Given the description of an element on the screen output the (x, y) to click on. 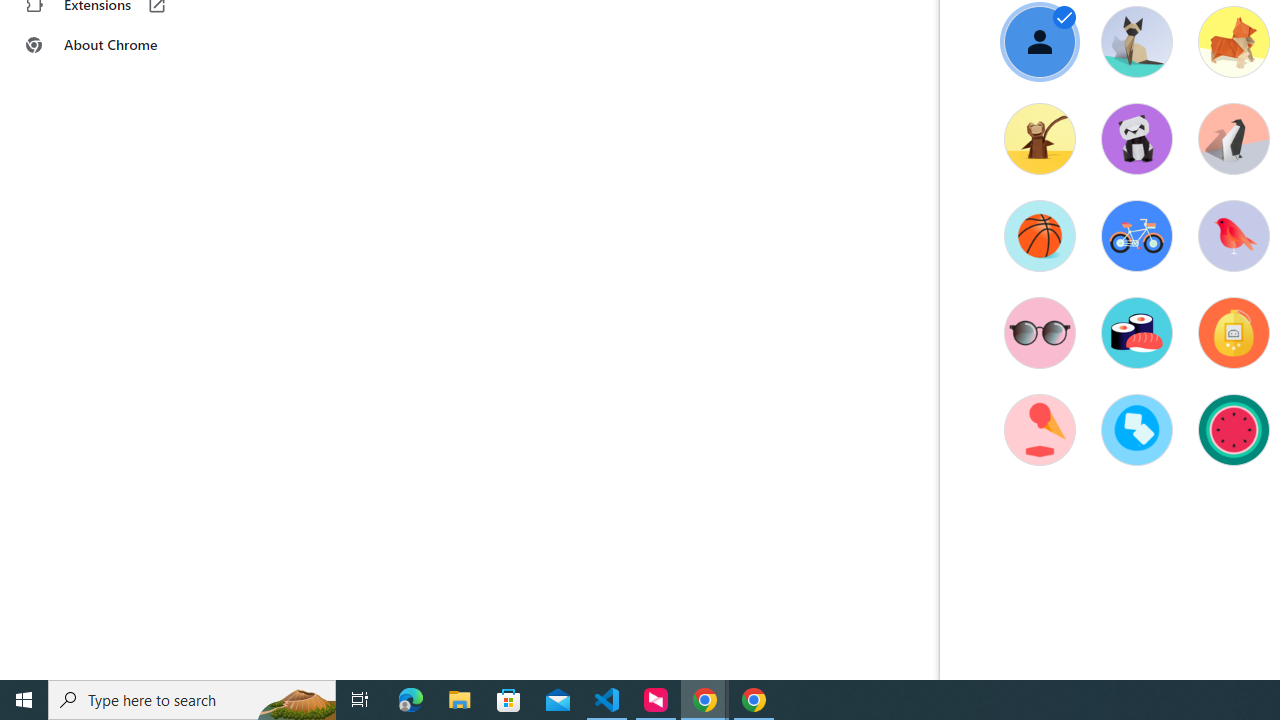
About Chrome (124, 44)
